Given the description of an element on the screen output the (x, y) to click on. 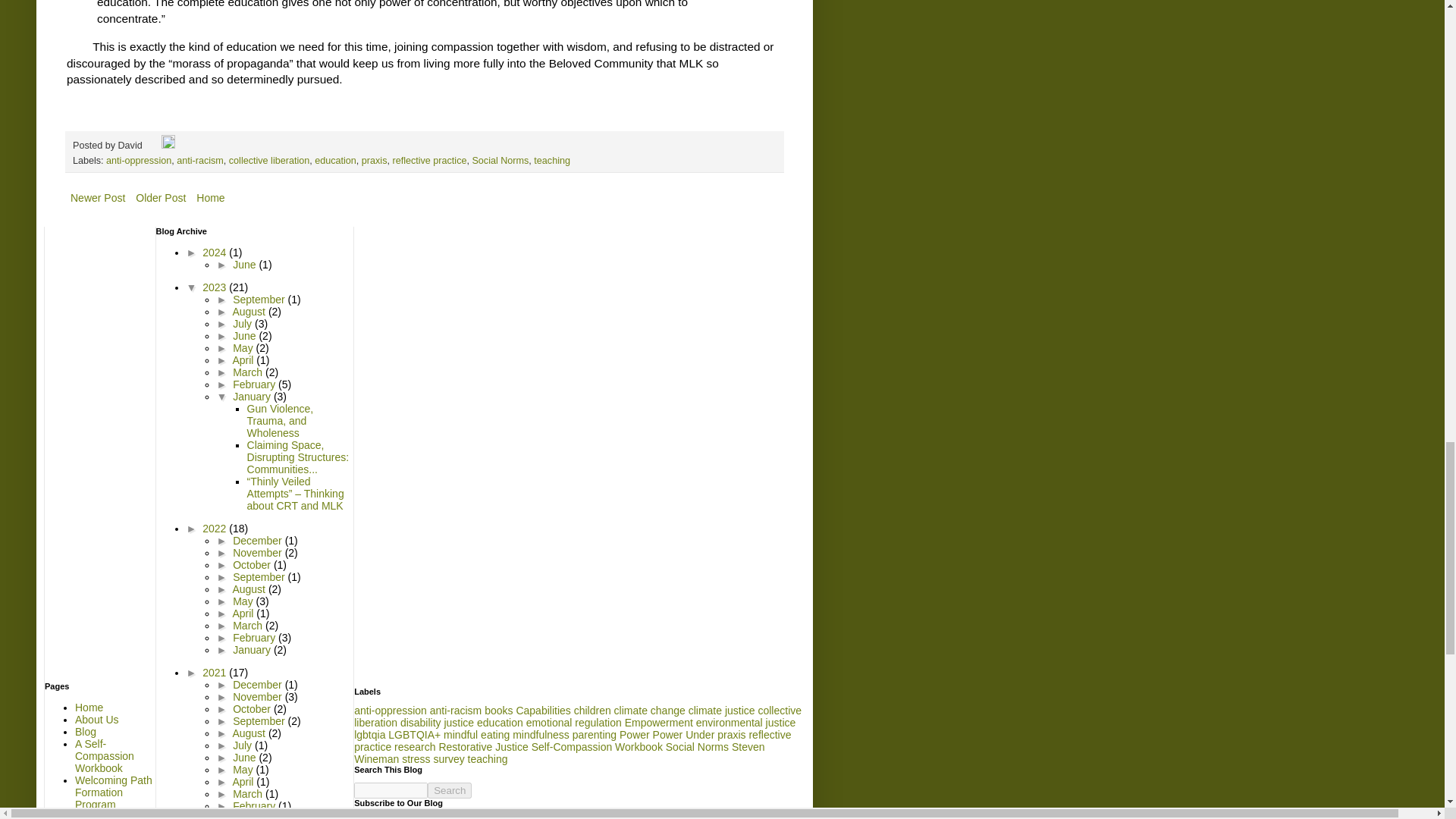
search (390, 790)
teaching (552, 160)
Email Post (152, 145)
Edit Post (167, 145)
Older Post (160, 198)
A Self-Compassion Workbook (104, 755)
anti-racism (200, 160)
Blog (85, 731)
praxis (374, 160)
Home (210, 198)
